Given the description of an element on the screen output the (x, y) to click on. 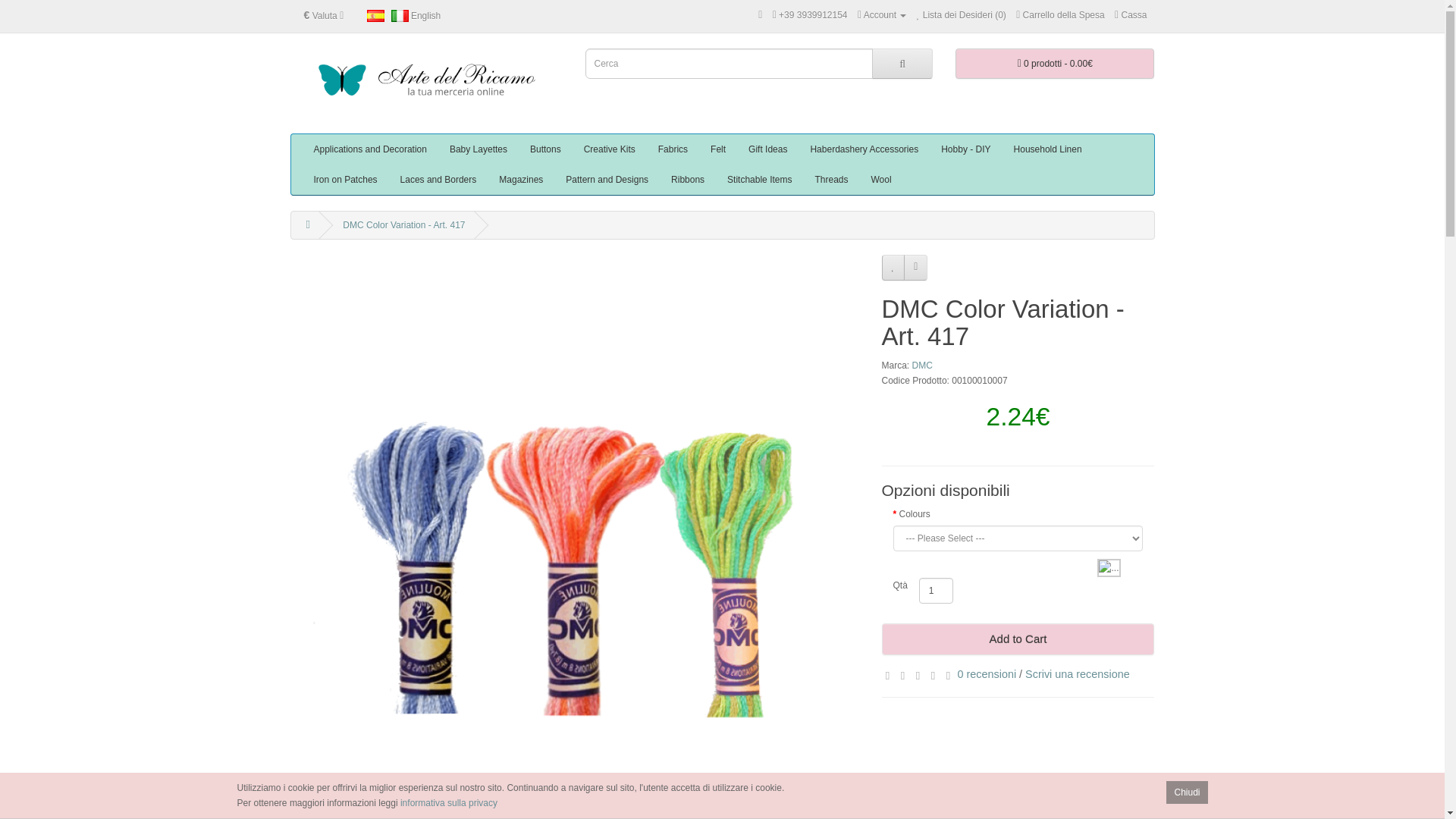
Account (882, 14)
Carrello della Spesa (1060, 14)
1 (935, 590)
Cassa (1131, 14)
Baby Layettes (478, 149)
Buttons (545, 149)
Arte Del Ricamo Shop (426, 81)
Creative Kits (609, 149)
Cassa (1131, 14)
Spanish (373, 15)
